Given the description of an element on the screen output the (x, y) to click on. 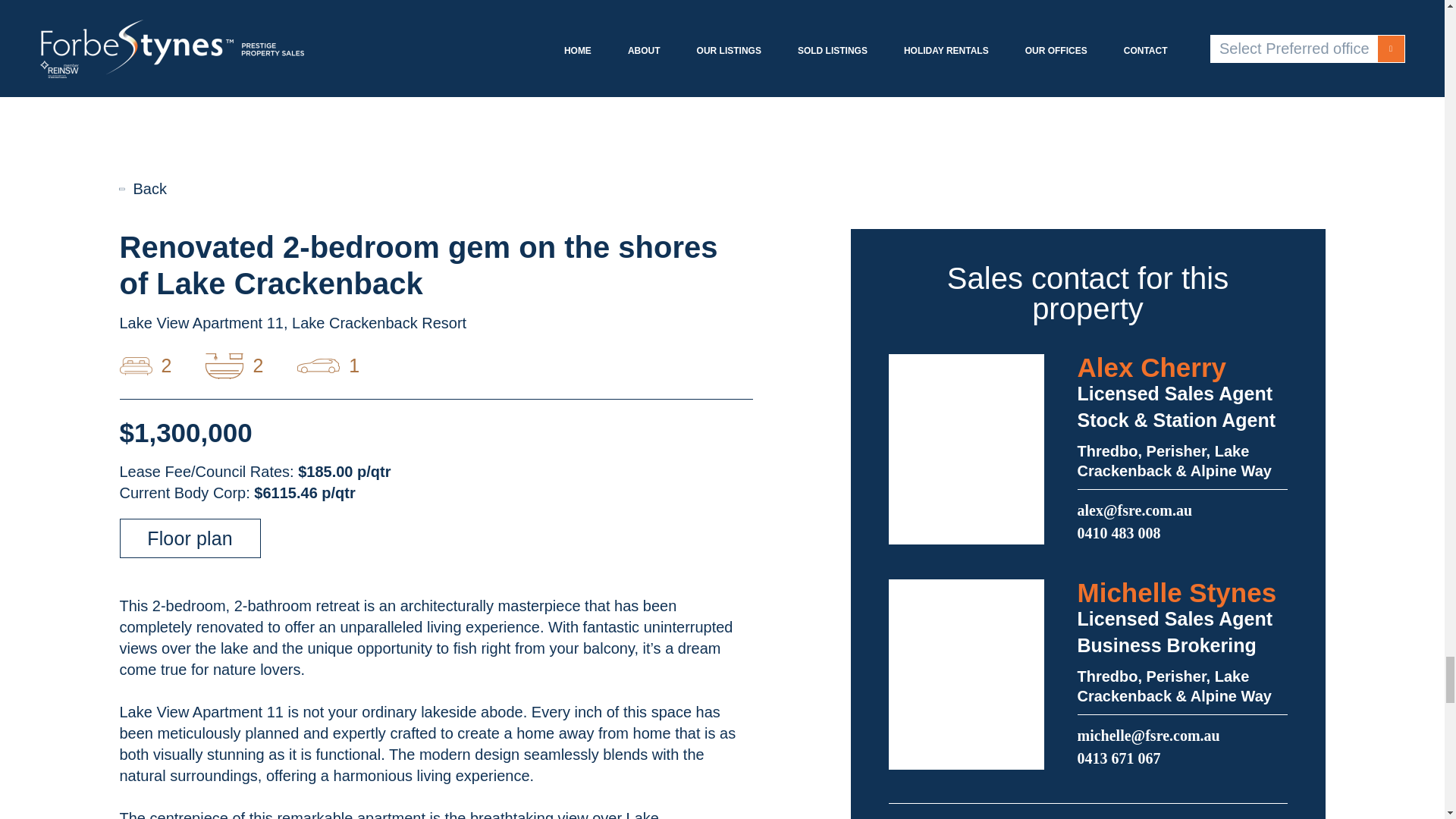
Back (143, 188)
0410 483 008 (1118, 532)
Floor plan (189, 537)
0413 671 067 (1118, 758)
